Given the description of an element on the screen output the (x, y) to click on. 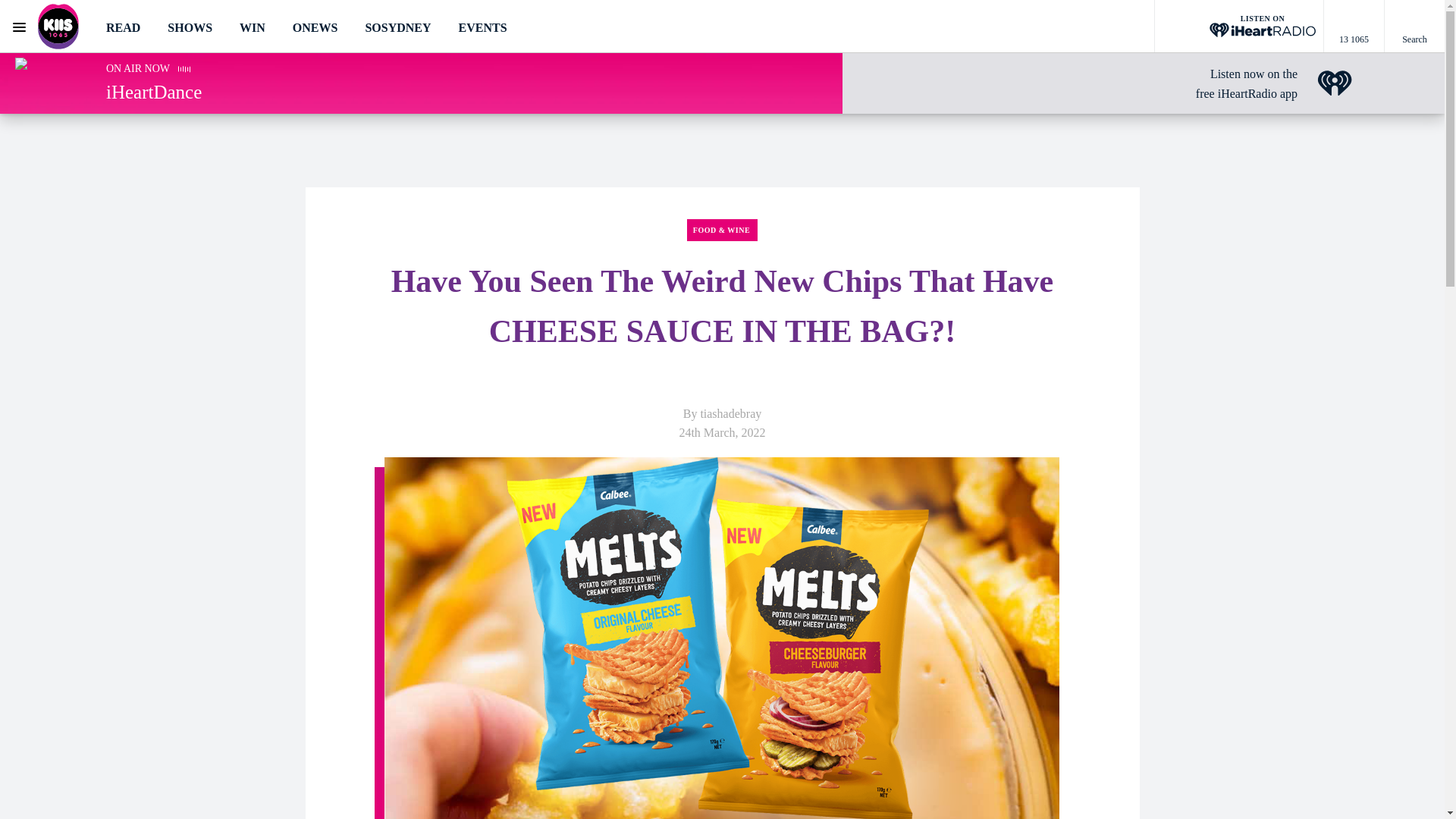
EVENTS (482, 26)
SOSYDNEY (397, 26)
13 1065 (1353, 26)
LISTEN ON (1238, 26)
ON AIR NOW (138, 68)
iHeart (1334, 82)
